Given the description of an element on the screen output the (x, y) to click on. 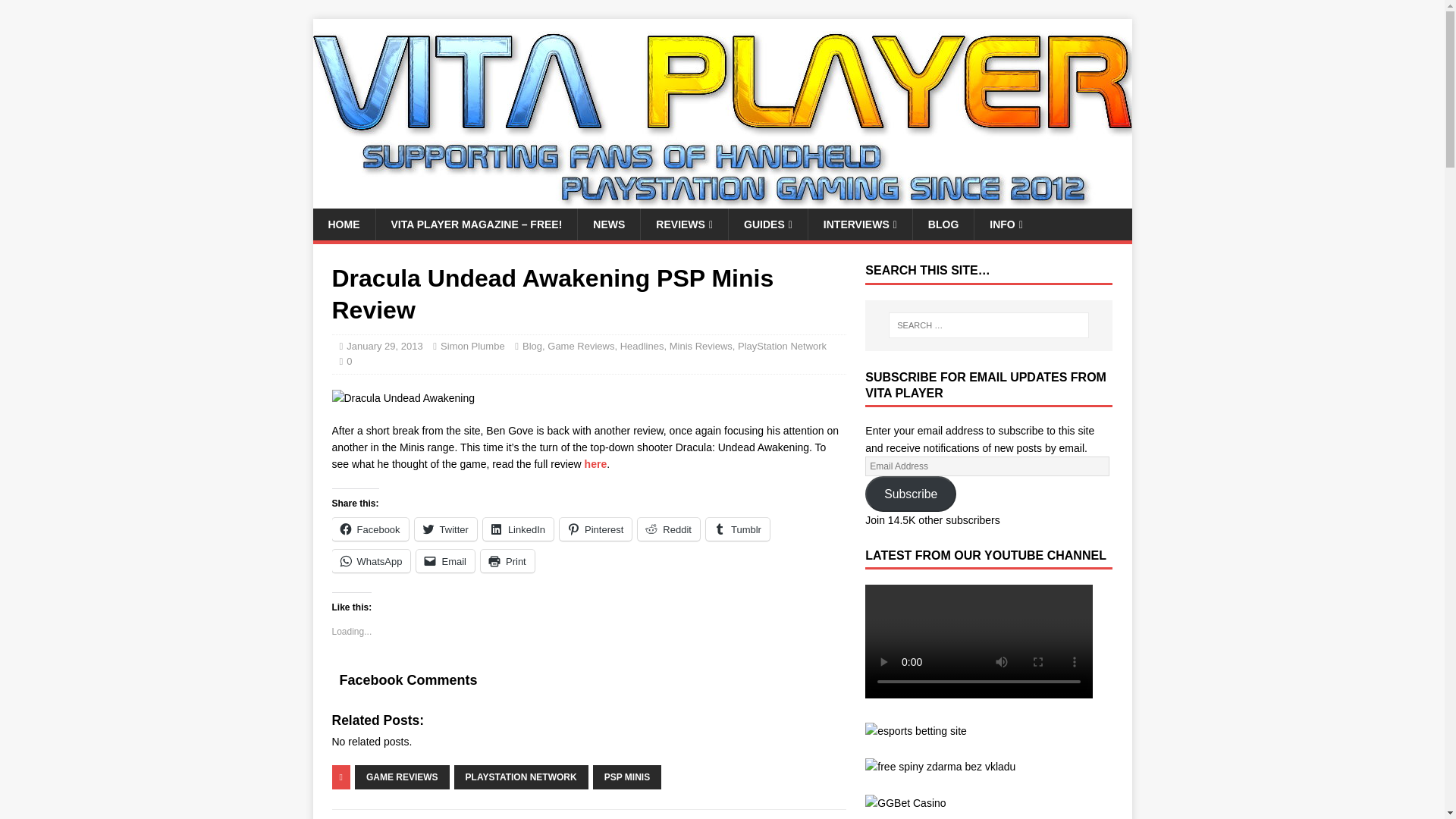
INFO (1006, 224)
Click to share on Pinterest (595, 528)
REVIEWS (684, 224)
Click to share on LinkedIn (518, 528)
Dracula Undead Awakening (403, 397)
Click to share on Twitter (445, 528)
Click to email a link to a friend (445, 560)
BLOG (943, 224)
Click to share on Facebook (370, 528)
Click to print (507, 560)
Vita Player - the one-stop resource for PS Vita owners (722, 200)
HOME (343, 224)
Click to share on Tumblr (738, 528)
GUIDES (768, 224)
INTERVIEWS (860, 224)
